Given the description of an element on the screen output the (x, y) to click on. 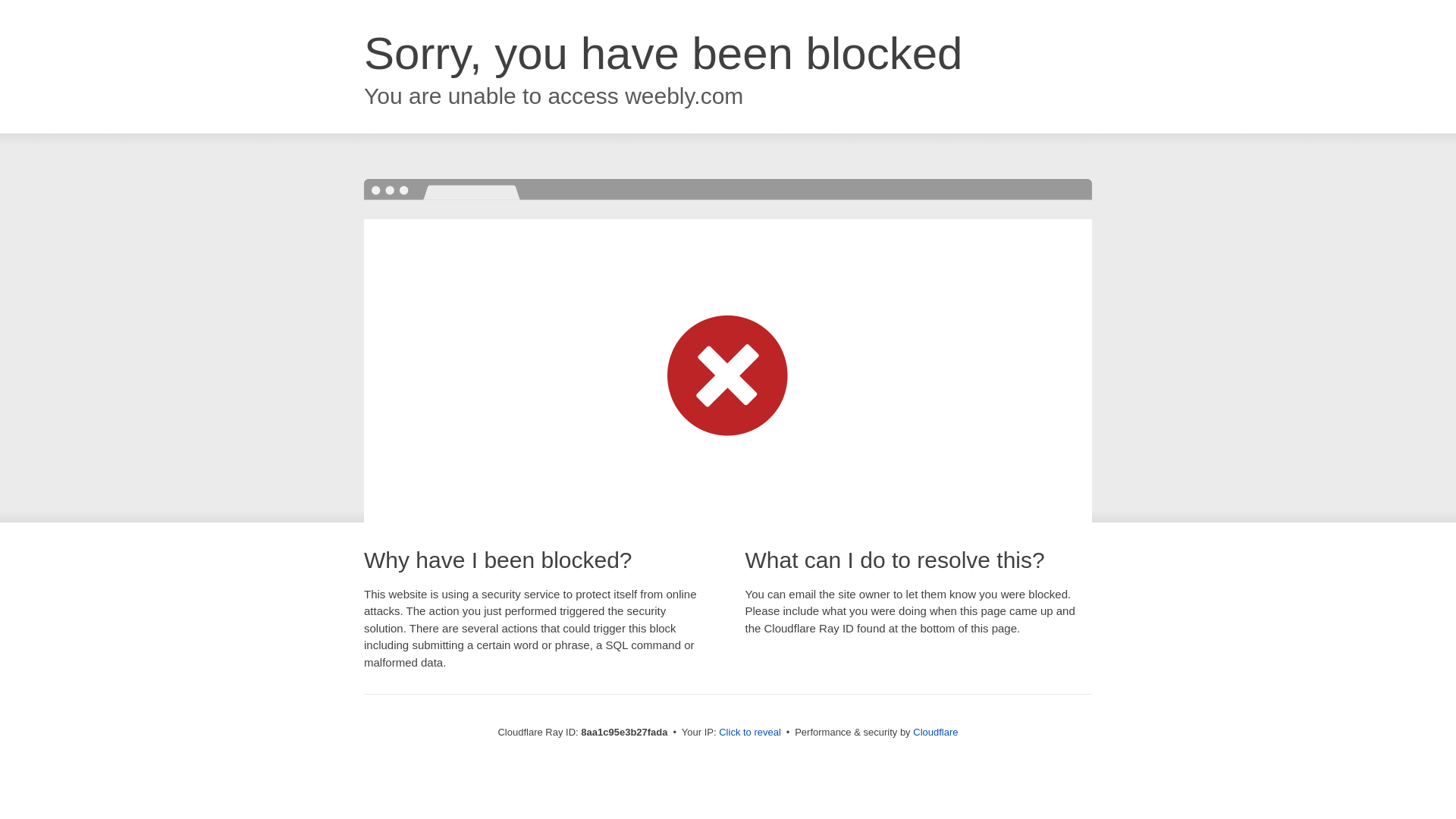
Click to reveal (749, 732)
Cloudflare (935, 731)
